Given the description of an element on the screen output the (x, y) to click on. 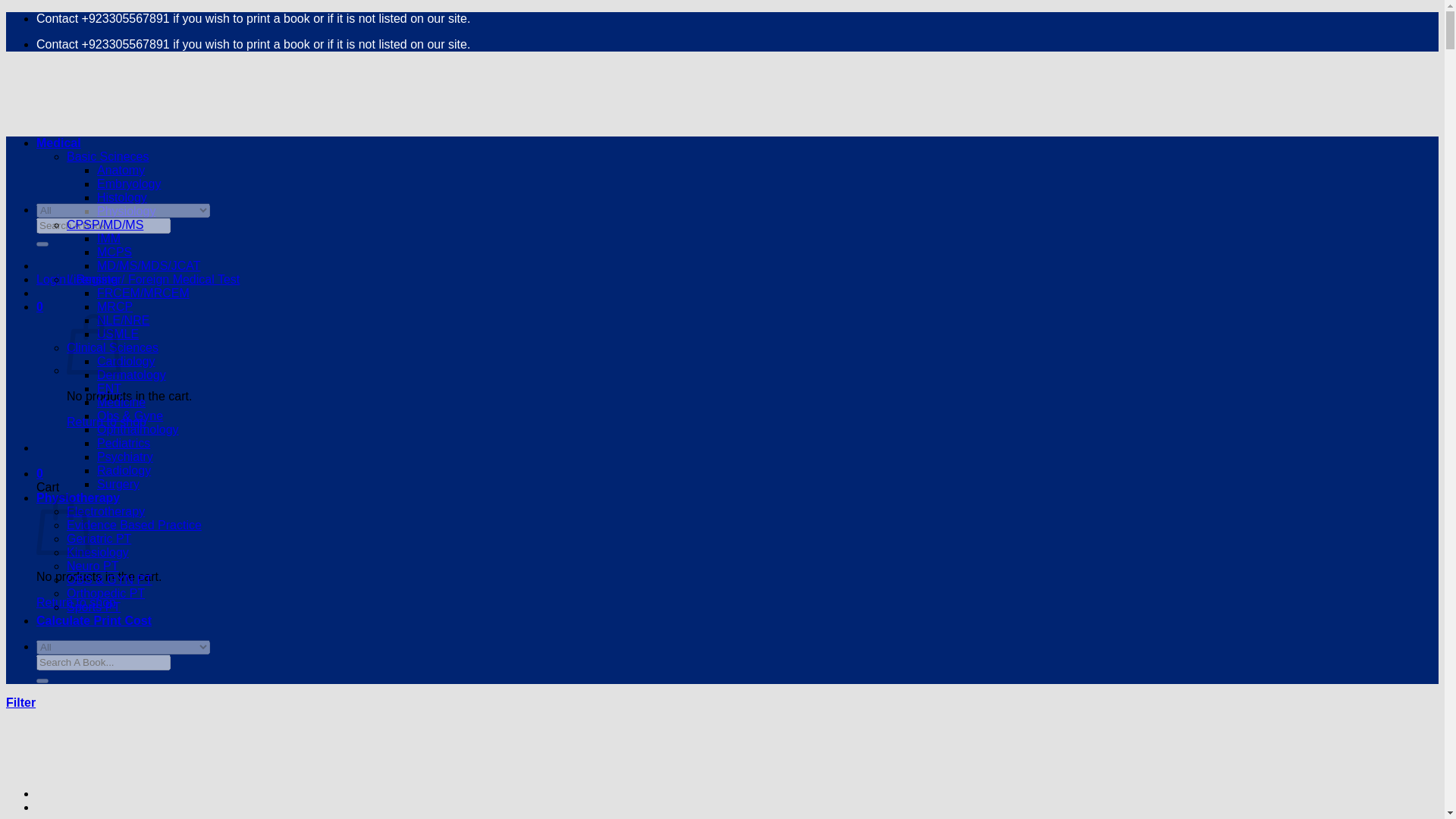
Cardiology (125, 360)
Ophthalmology (138, 429)
MRCP (114, 306)
Anatomy (120, 169)
Physiotherapy (77, 497)
Search (42, 243)
Clinical Sciences (112, 347)
Basic Scineces (107, 155)
Return to shop (76, 602)
